Given the description of an element on the screen output the (x, y) to click on. 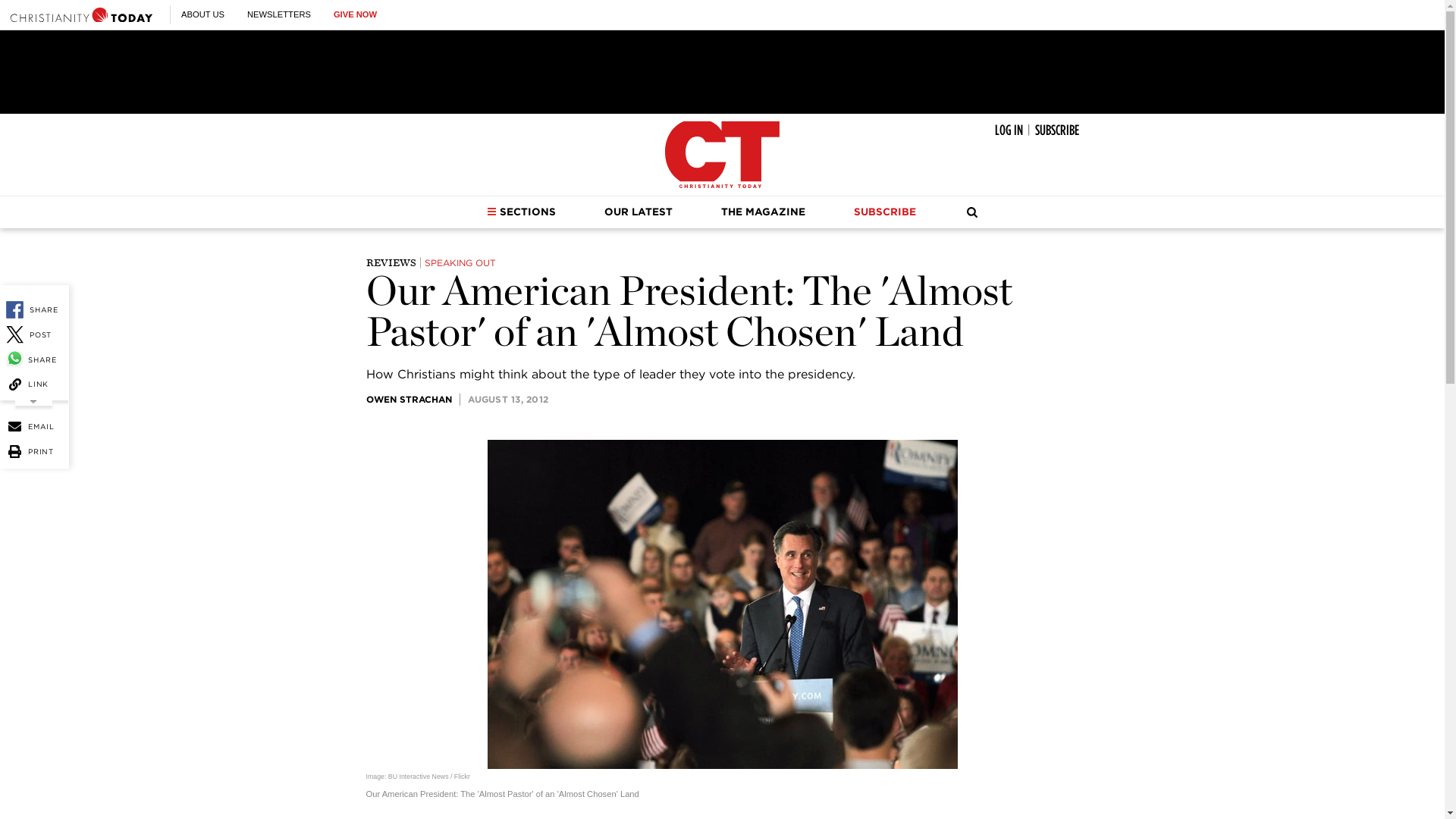
Sections Dropdown (491, 211)
Christianity Today (721, 154)
NEWSLETTERS (278, 14)
GIVE NOW (355, 14)
SECTIONS (521, 212)
3rd party ad content (721, 71)
SUBSCRIBE (1055, 130)
Christianity Today (81, 14)
LOG IN (1008, 130)
ABOUT US (202, 14)
